Given the description of an element on the screen output the (x, y) to click on. 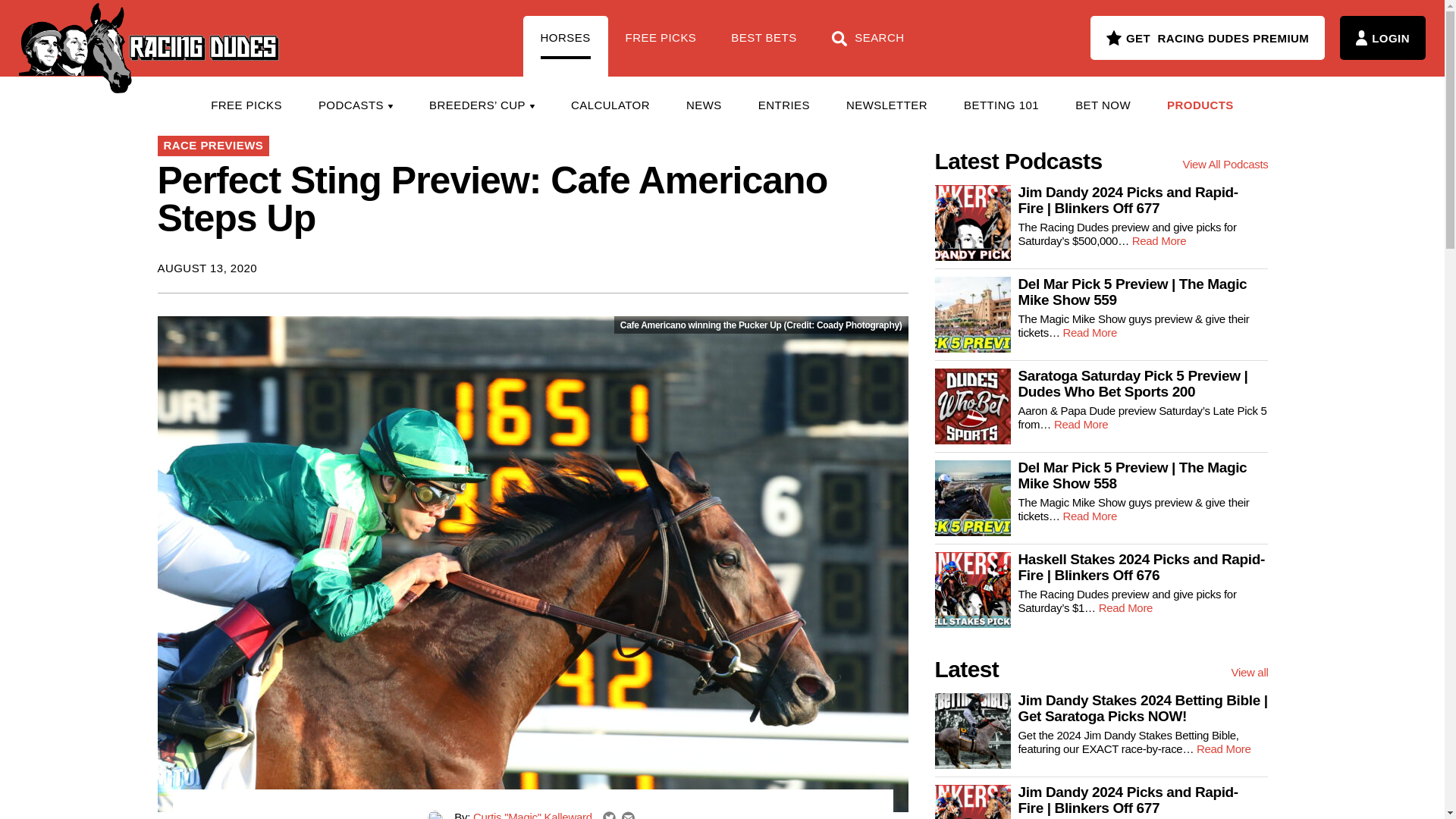
PODCASTS (354, 105)
LOGIN (1382, 37)
FREE PICKS (661, 45)
Posts by Curtis "Magic" Kalleward (532, 814)
 SEARCH (867, 45)
BEST BETS (763, 45)
FREE PICKS (245, 105)
GET  RACING DUDES PREMIUM (1207, 37)
HORSES (565, 45)
